Given the description of an element on the screen output the (x, y) to click on. 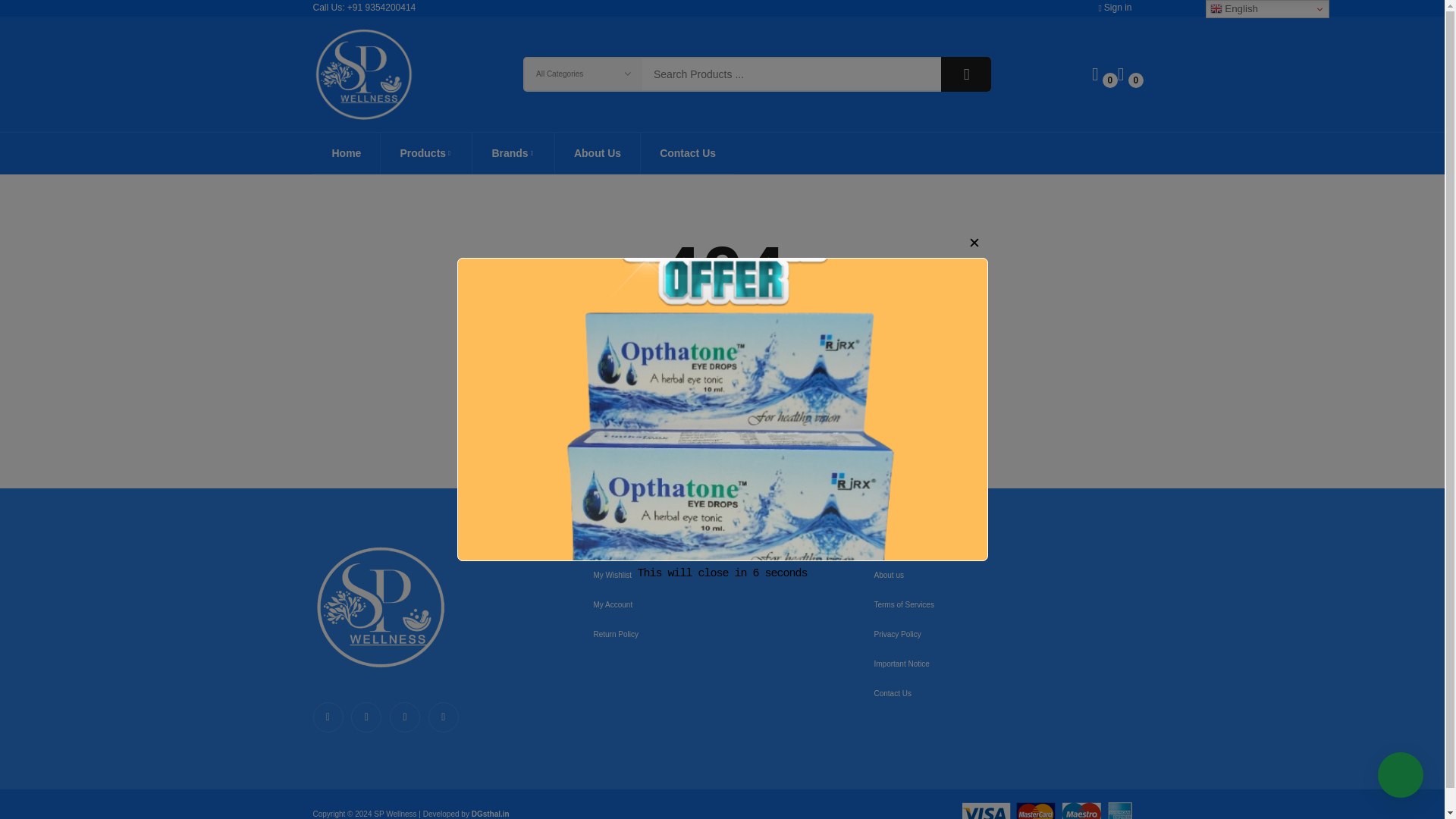
Home (346, 152)
Sign in (1114, 8)
Brands (512, 152)
Products (425, 152)
